Given the description of an element on the screen output the (x, y) to click on. 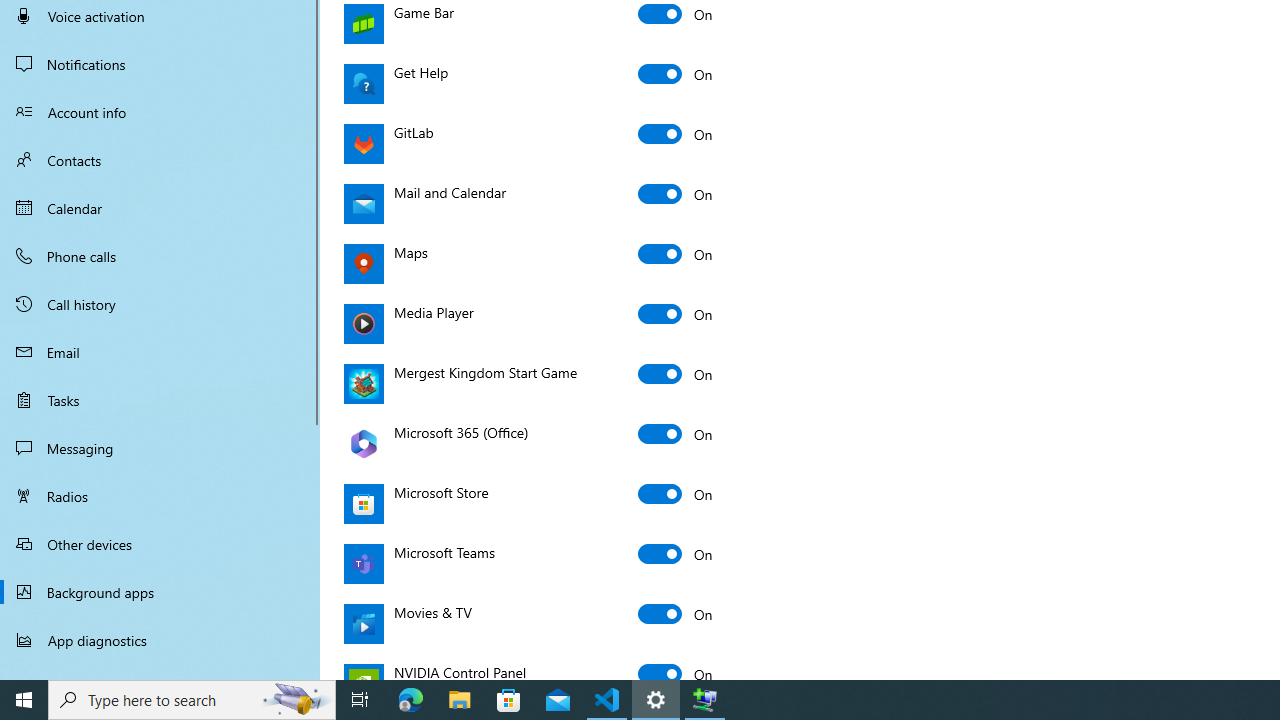
Media Player (675, 313)
Tasks (160, 399)
Calendar (160, 207)
Movies & TV (675, 614)
App diagnostics (160, 639)
Get Help (675, 74)
Extensible Wizards Host Process - 1 running window (704, 699)
Type here to search (191, 699)
Microsoft 365 (Office) (675, 434)
Microsoft Store (675, 493)
Visual Studio Code - 1 running window (607, 699)
Search highlights icon opens search home window (295, 699)
Contacts (160, 160)
Automatic file downloads (160, 671)
